Given the description of an element on the screen output the (x, y) to click on. 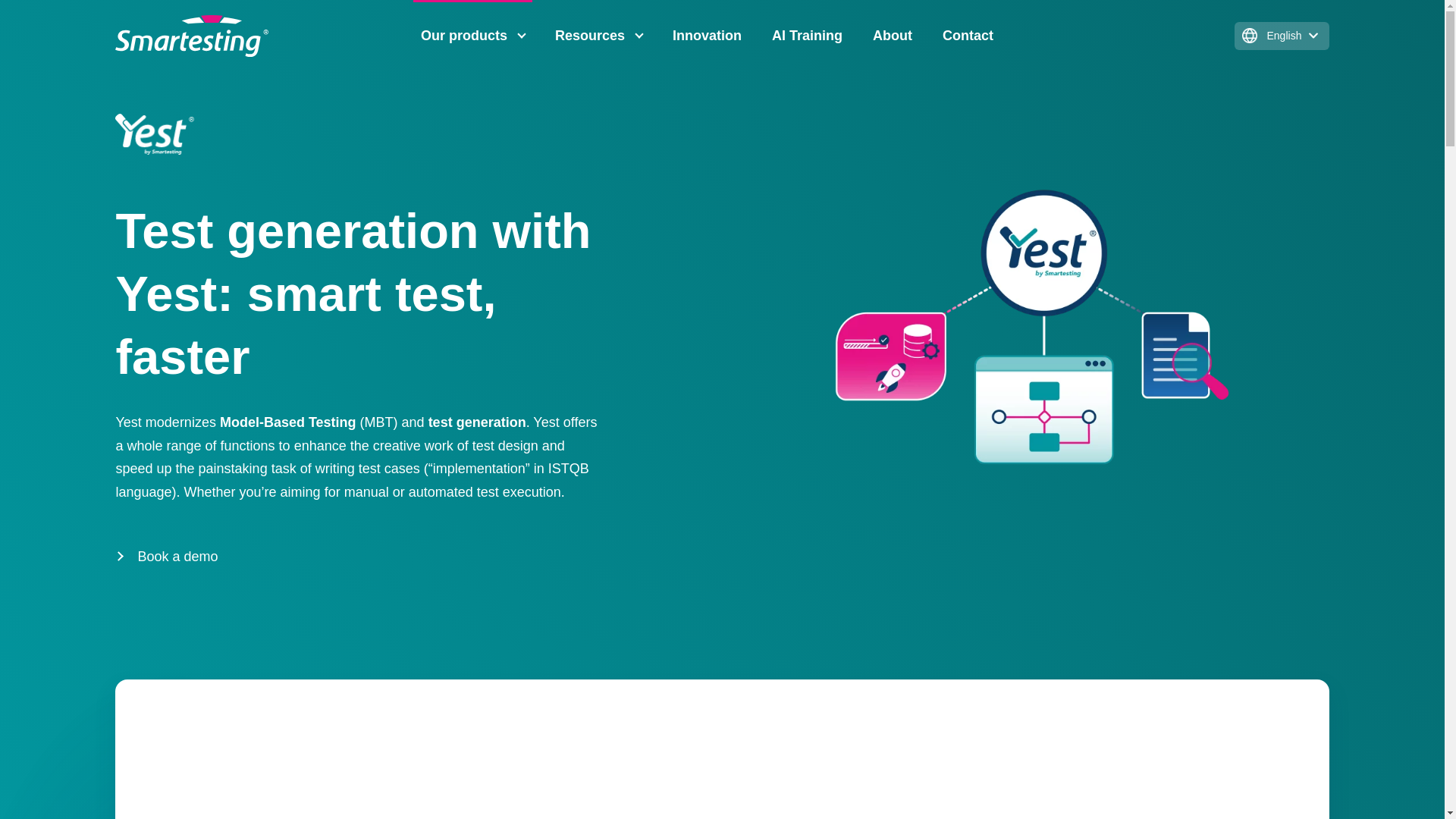
Contact (967, 36)
Innovation (706, 36)
About (892, 36)
AI Training (807, 36)
Book a demo (165, 556)
